Given the description of an element on the screen output the (x, y) to click on. 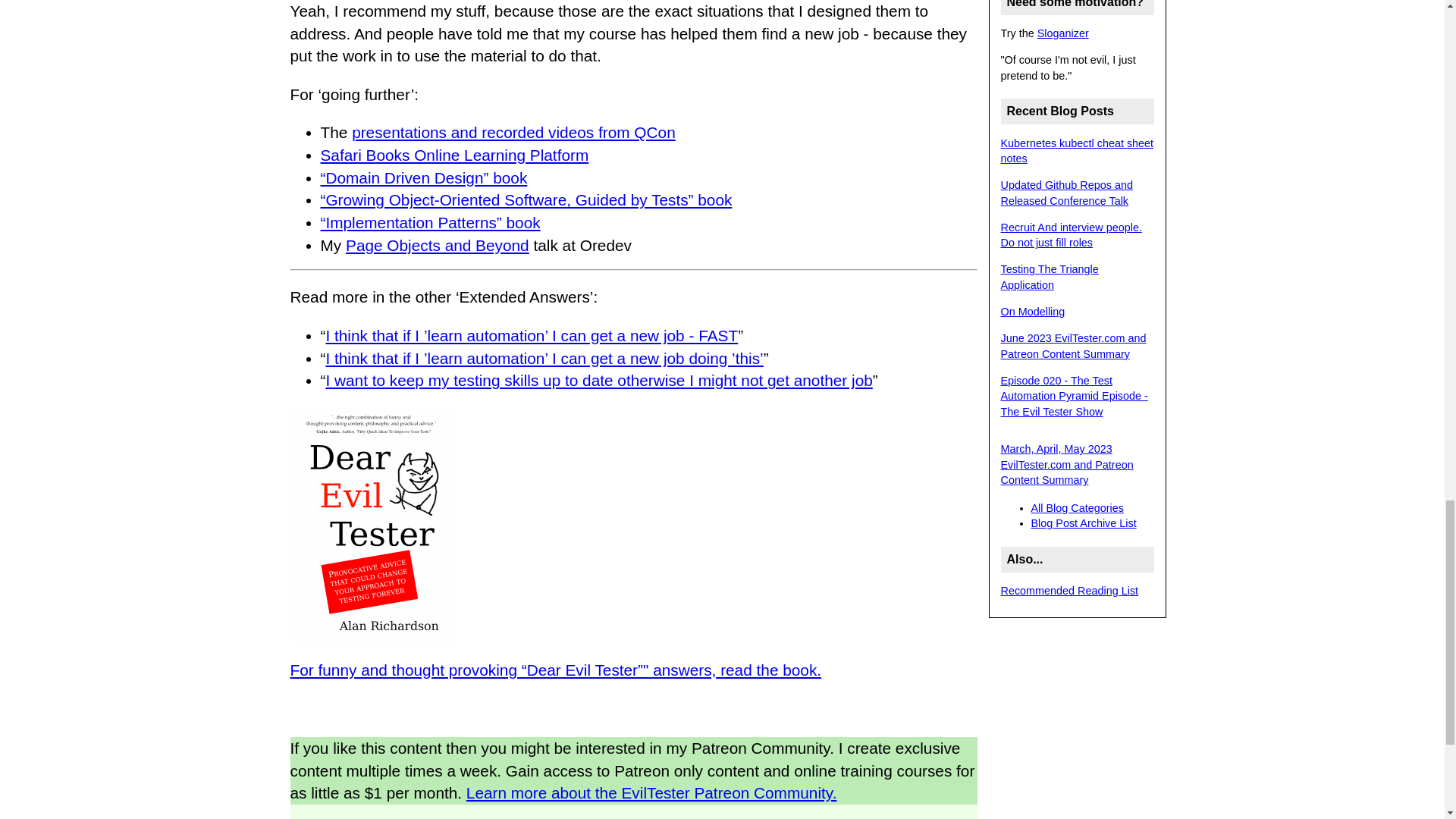
Page Objects and Beyond (437, 244)
presentations and recorded videos from QCon (513, 131)
Safari Books Online Learning Platform (454, 154)
